Given the description of an element on the screen output the (x, y) to click on. 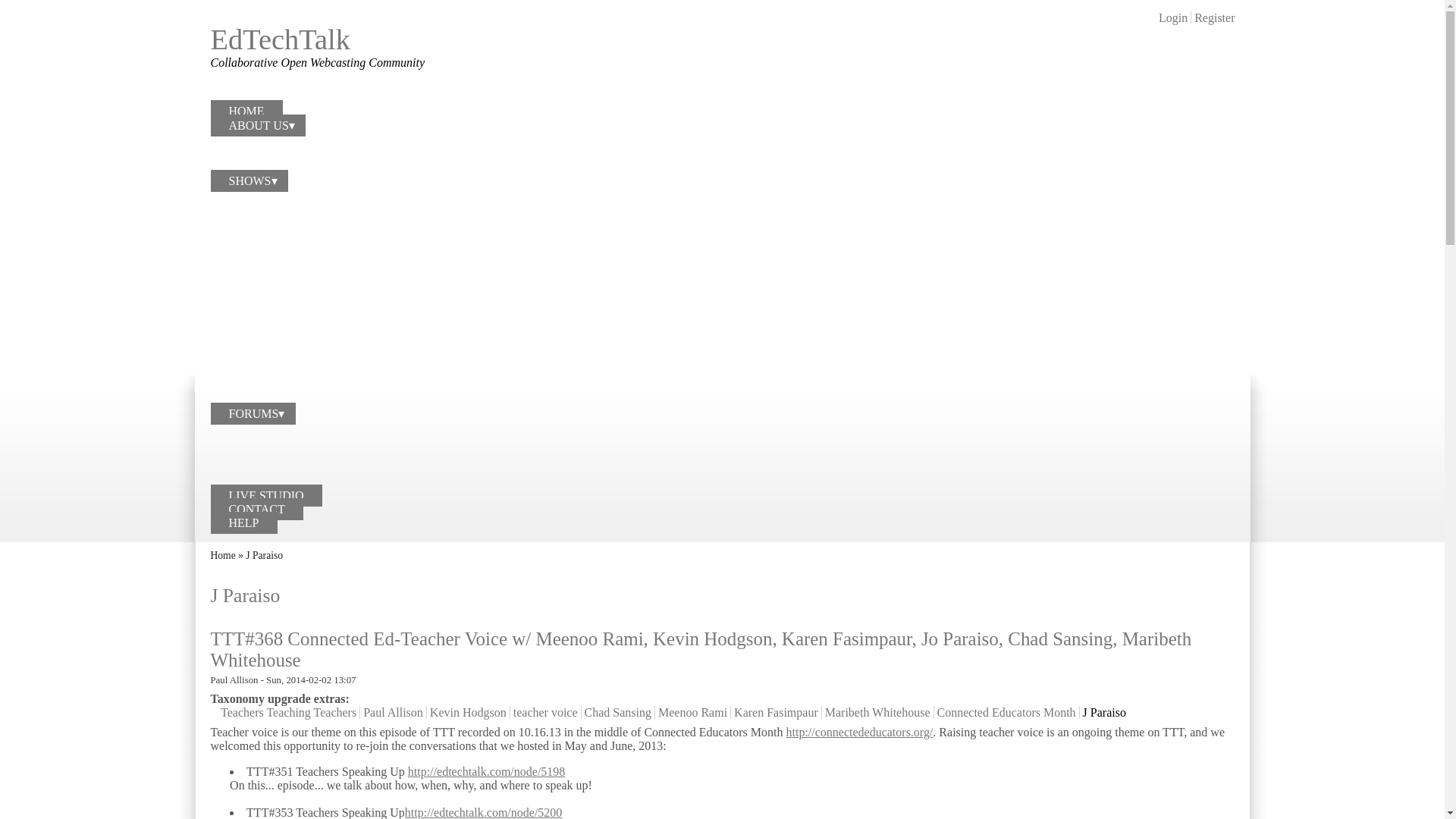
LIVE STUDIO (266, 495)
Skip to search (34, 0)
Register (1213, 17)
Home (223, 555)
CONTACT (256, 508)
EdTechTalk (280, 39)
Advertisement (1059, 47)
HELP (244, 522)
Home (280, 39)
SHOWS (249, 180)
ABOUT US (258, 125)
Login (1173, 17)
FORUMS (253, 413)
HOME (246, 110)
